Given the description of an element on the screen output the (x, y) to click on. 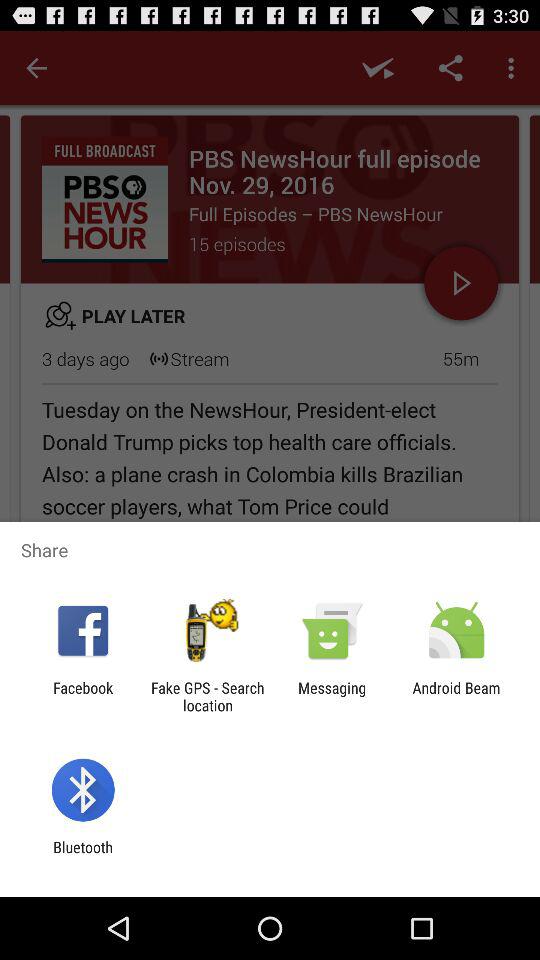
select the messaging item (332, 696)
